Given the description of an element on the screen output the (x, y) to click on. 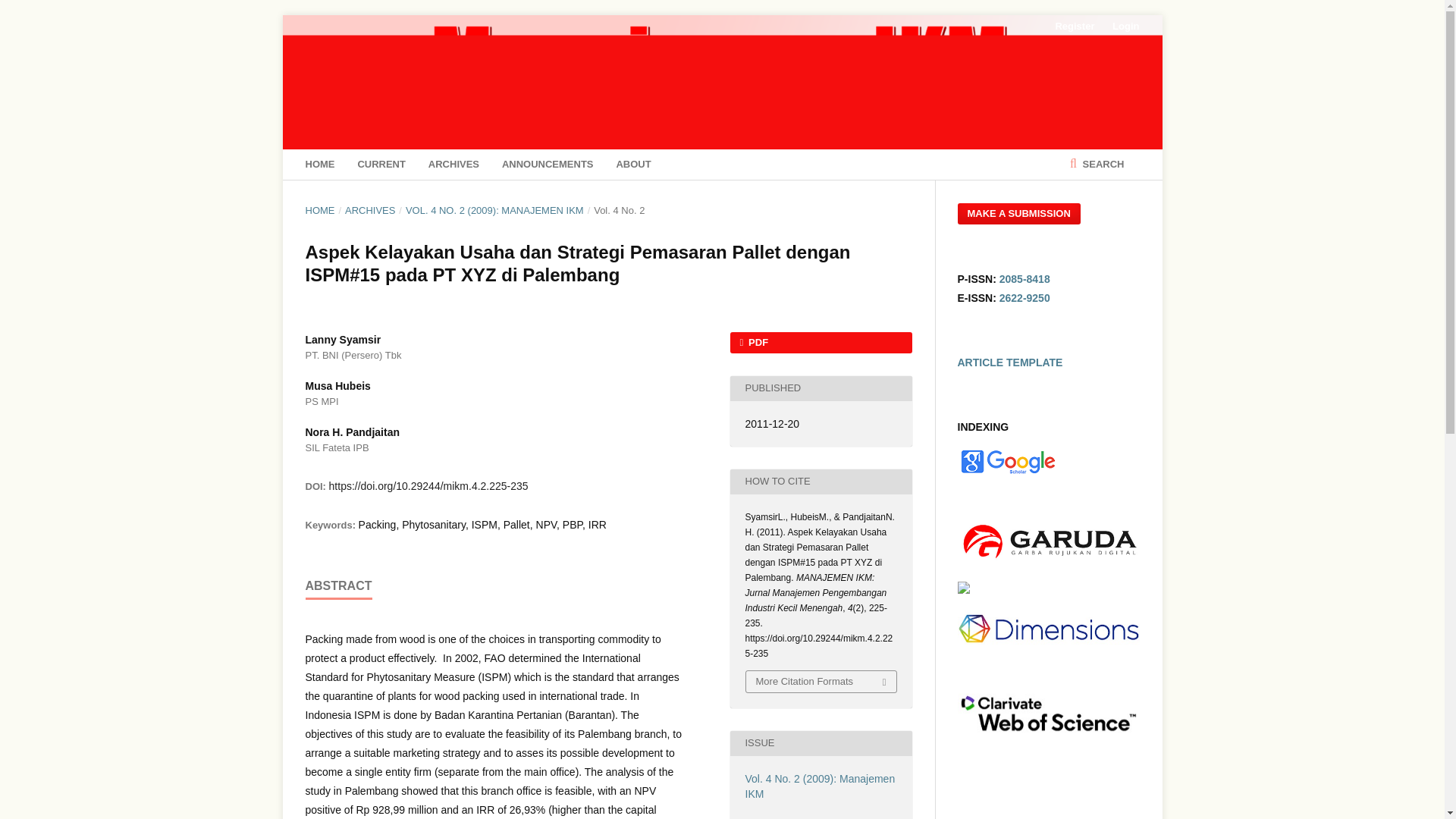
Dimensions (1047, 653)
PDF (820, 342)
CURRENT (381, 164)
ABOUT (632, 164)
Login (1121, 26)
ARCHIVES (369, 210)
SEARCH (1096, 164)
ARCHIVES (453, 164)
More Citation Formats (820, 681)
Google Scholar Citations (1006, 472)
Garuda (1047, 560)
Register (1074, 26)
HOME (319, 210)
ANNOUNCEMENTS (548, 164)
HOME (319, 164)
